Given the description of an element on the screen output the (x, y) to click on. 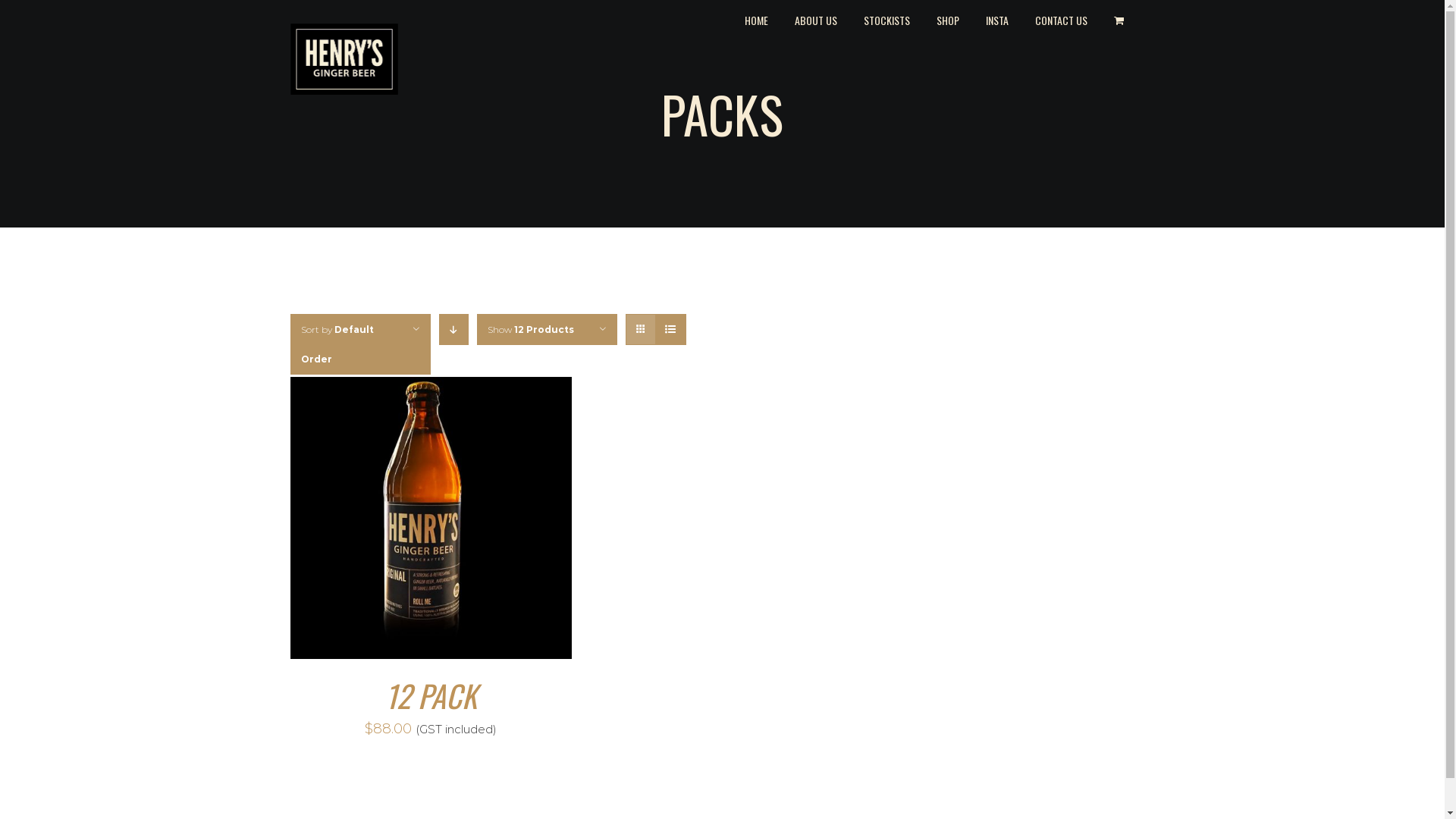
CONTACT US Element type: text (1060, 18)
FIND A STOCKIST Element type: text (1017, 669)
BUY ONLINE Element type: text (426, 667)
HOME Element type: text (756, 18)
ABOUT US Element type: text (815, 18)
SHOP Element type: text (946, 18)
info@henrysgingerbeer.com.au Element type: text (722, 487)
Sort by Default Order Element type: text (336, 343)
Instagram Element type: hover (739, 617)
Facebook Element type: hover (704, 617)
STOCKISTS Element type: text (885, 18)
12 PACK Element type: text (430, 695)
Show 12 Products Element type: text (529, 329)
INSTA Element type: text (996, 18)
